Given the description of an element on the screen output the (x, y) to click on. 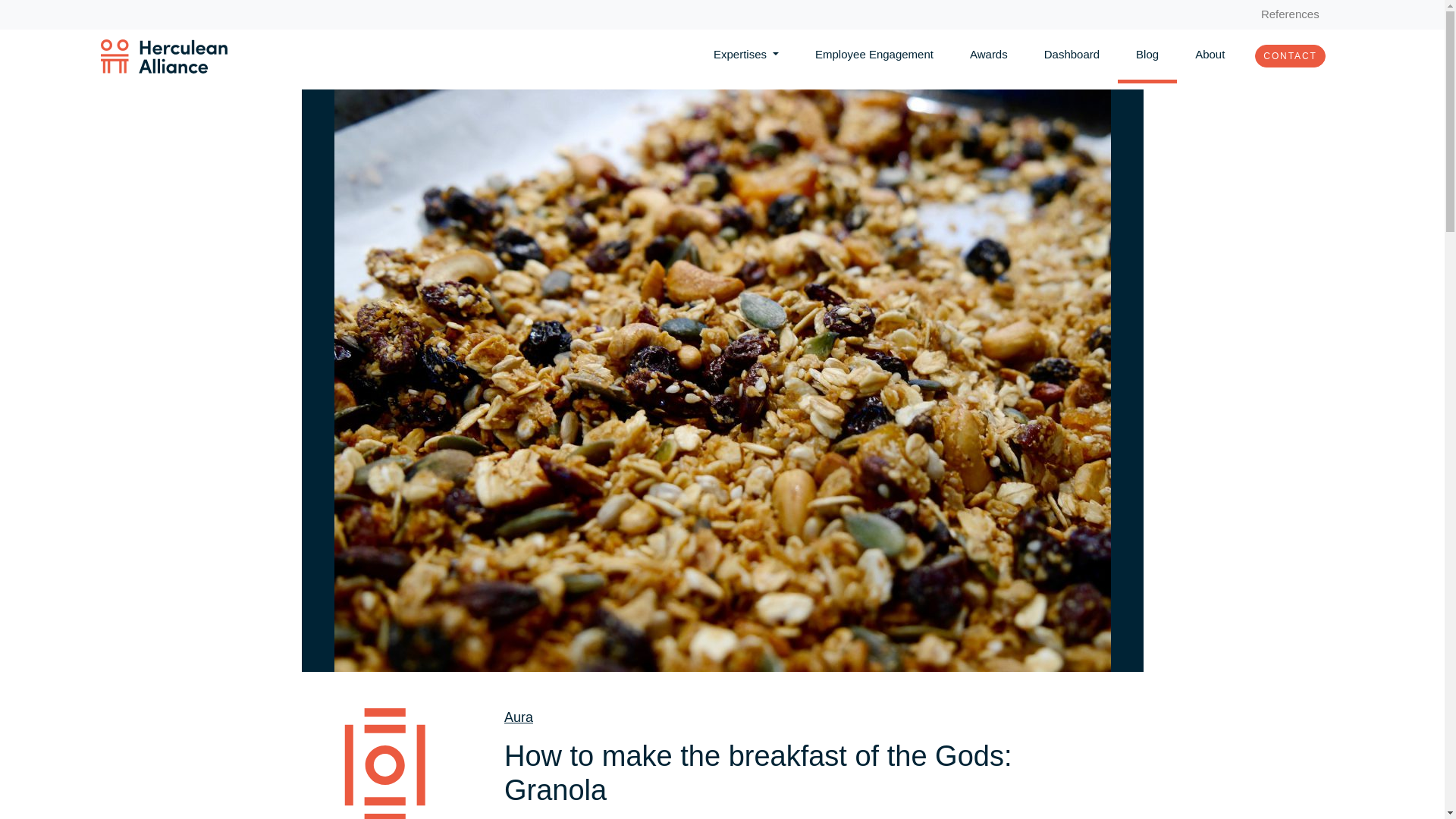
Dashboard (1071, 53)
CONTACT (1289, 56)
Awards (988, 53)
Employee Engagement (874, 53)
References (1289, 14)
Expertises (745, 53)
hendrikperdieus (560, 818)
Aura (517, 717)
